Given the description of an element on the screen output the (x, y) to click on. 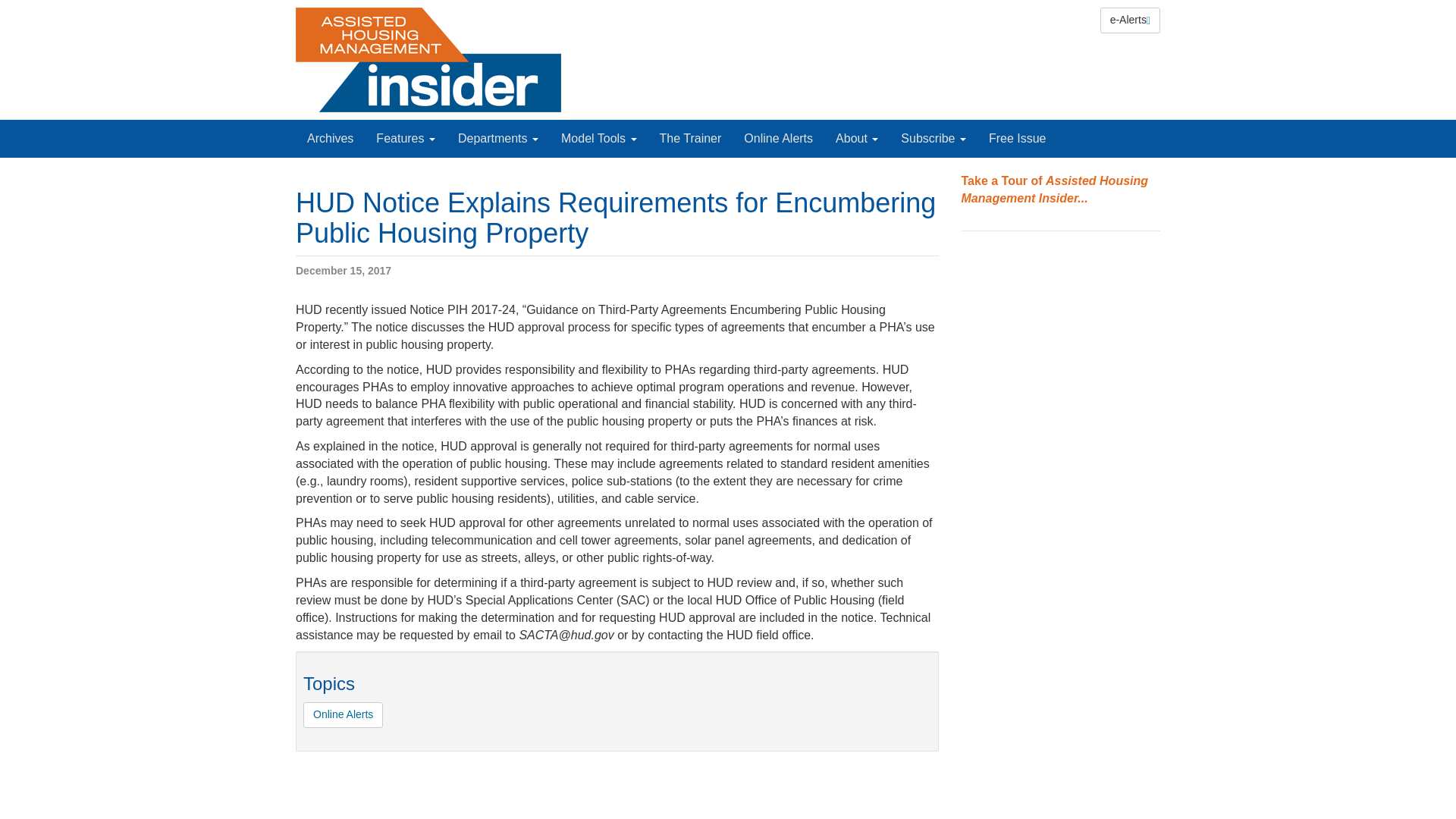
Features (405, 138)
Assisted Housing Management Insider home (427, 58)
e-Alerts (1130, 20)
The Trainer (690, 138)
Departments (498, 138)
Model Tools (598, 138)
Archives (330, 138)
About (856, 138)
Online Alerts (778, 138)
